Given the description of an element on the screen output the (x, y) to click on. 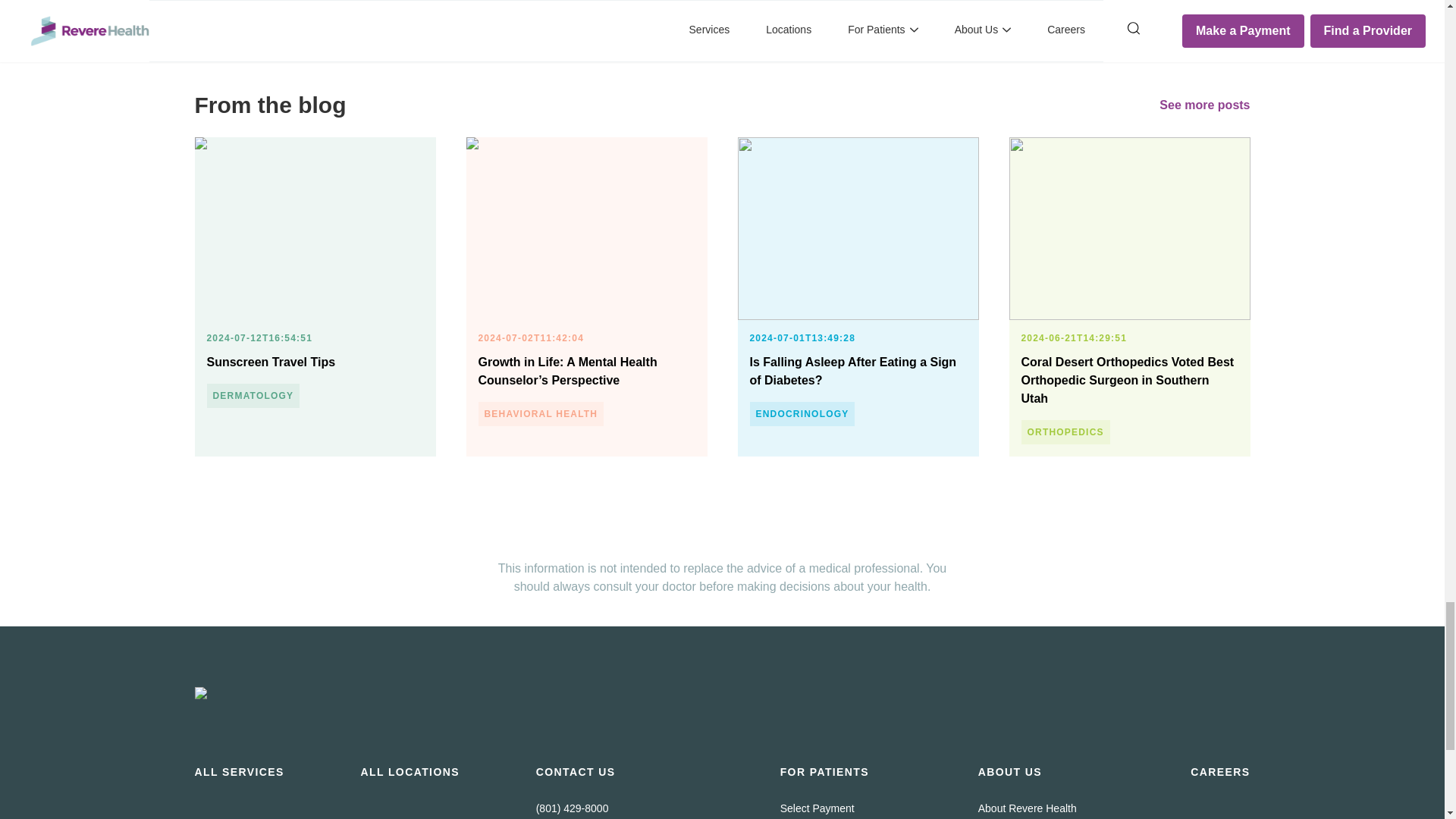
See more posts (1203, 105)
